Given the description of an element on the screen output the (x, y) to click on. 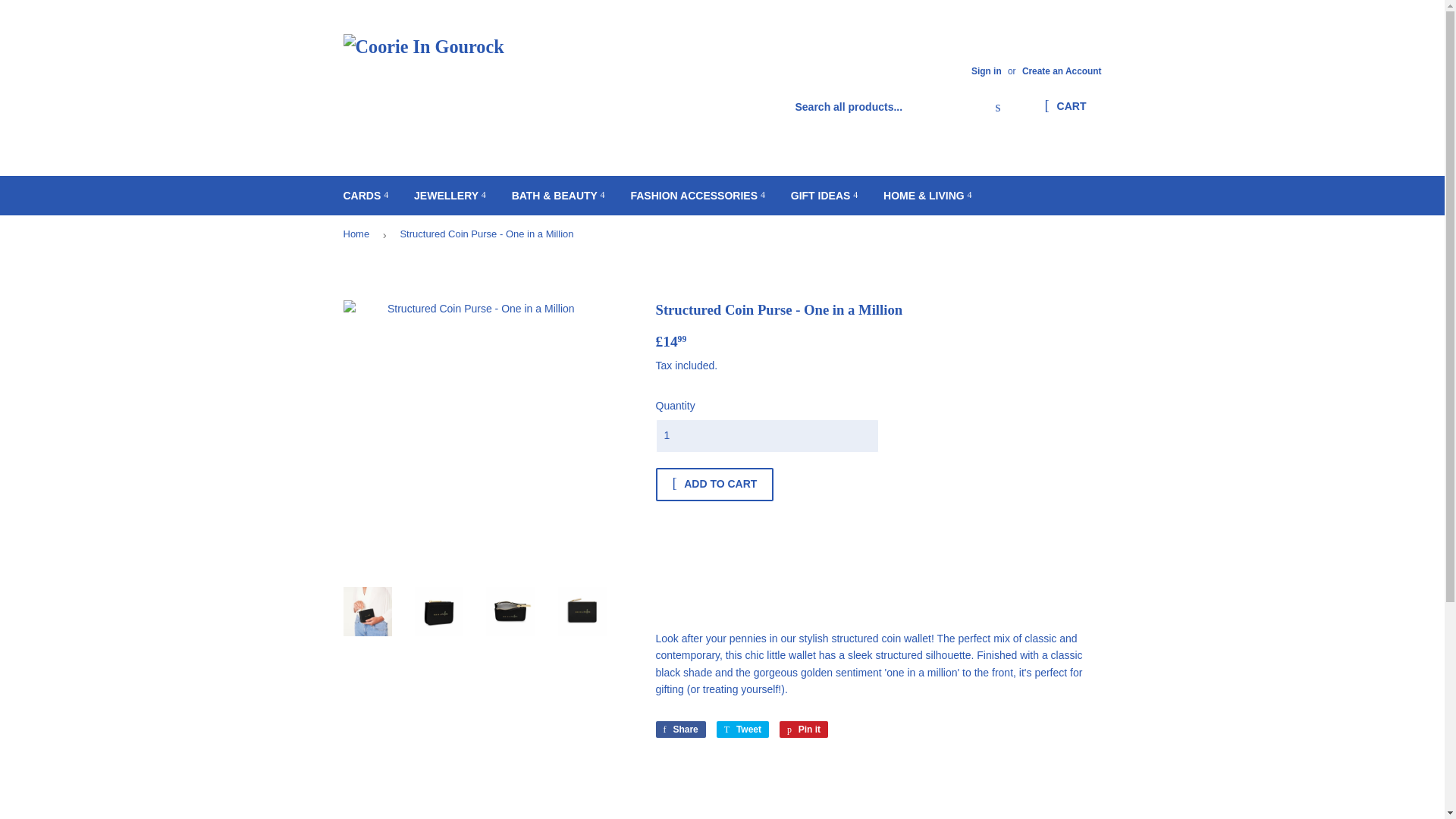
Share on Facebook (679, 729)
Create an Account (1062, 71)
Sign in (986, 71)
CART (1064, 106)
1 (766, 435)
Pin on Pinterest (803, 729)
Search (997, 107)
Tweet on Twitter (742, 729)
